Given the description of an element on the screen output the (x, y) to click on. 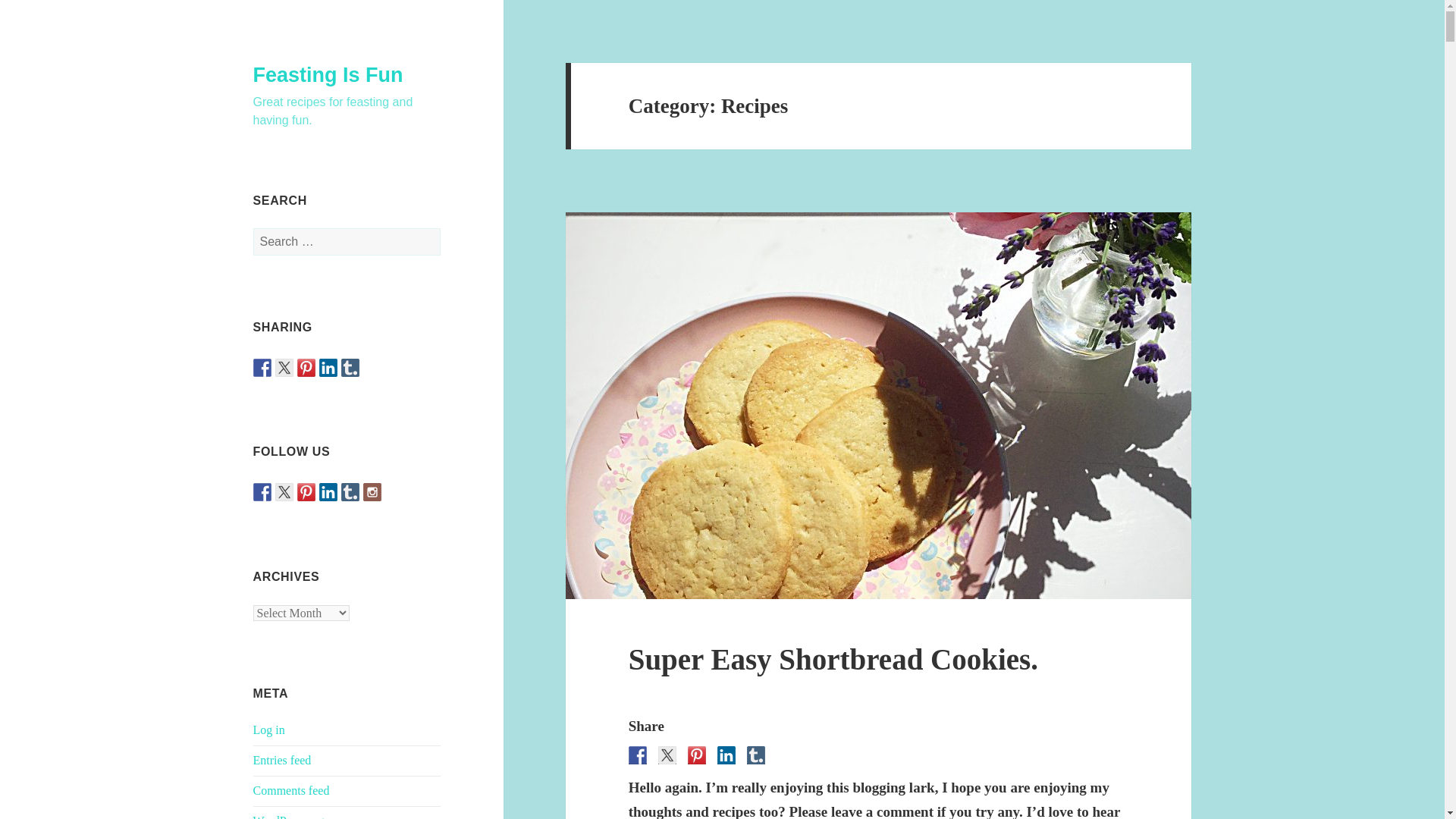
Share on Facebook (261, 367)
Follow us on Facebook (261, 492)
WordPress.org (288, 816)
Share on tumblr (349, 367)
Pin it with Pinterest (306, 367)
Entries feed (282, 759)
Log in (269, 729)
Follow me on Pinterest (306, 492)
Share on Twitter (284, 367)
Follow us on Twitter (284, 492)
Feasting Is Fun (328, 74)
Comments feed (291, 789)
